Given the description of an element on the screen output the (x, y) to click on. 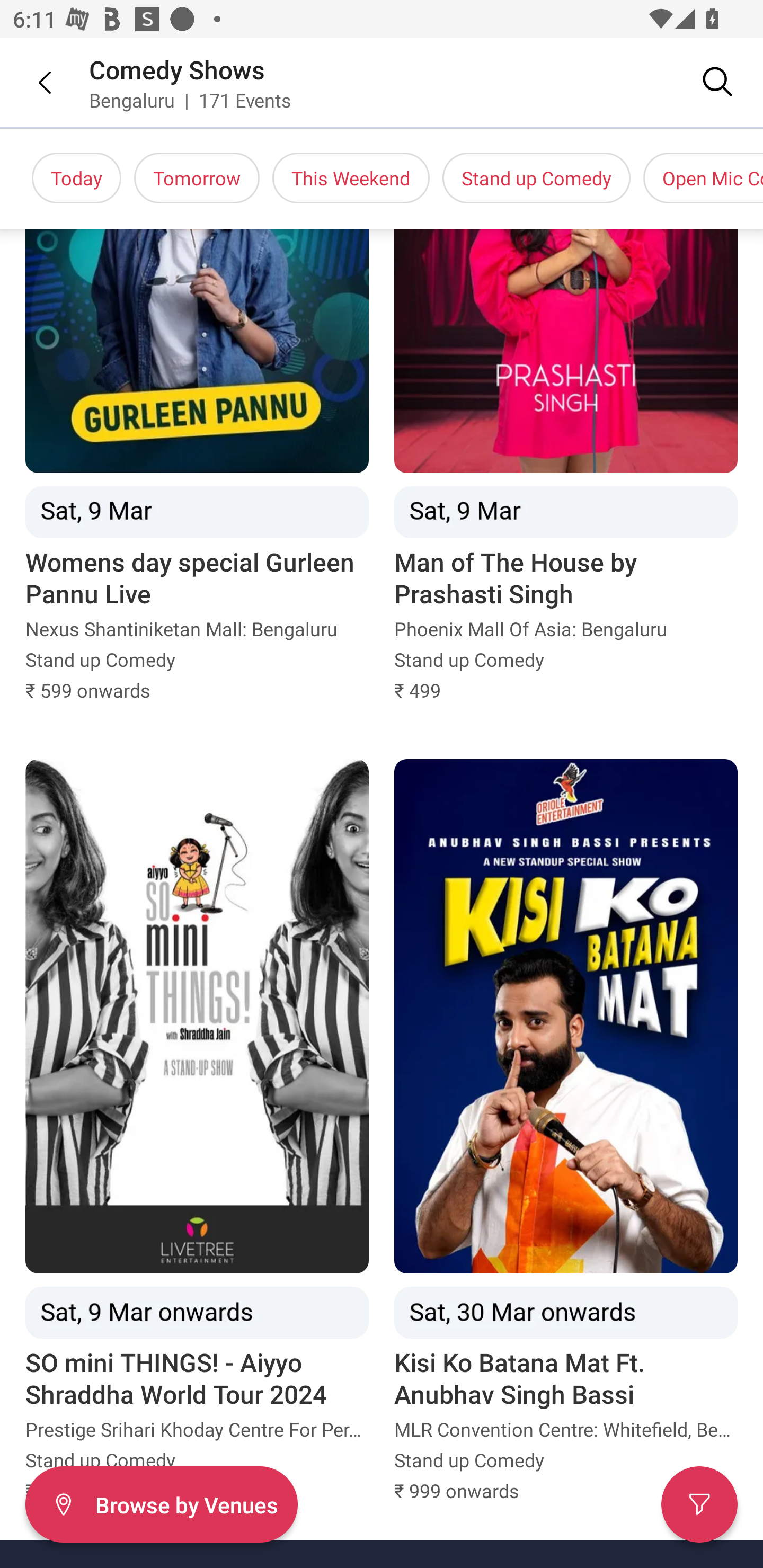
Back (31, 82)
Comedy Shows (176, 68)
Bengaluru  |  171 Events (190, 99)
Today (76, 177)
Tomorrow (196, 177)
This Weekend (350, 177)
Stand up Comedy (536, 177)
Open Mic Comedy (703, 177)
Filter Browse by Venues (161, 1504)
Filter (699, 1504)
